Given the description of an element on the screen output the (x, y) to click on. 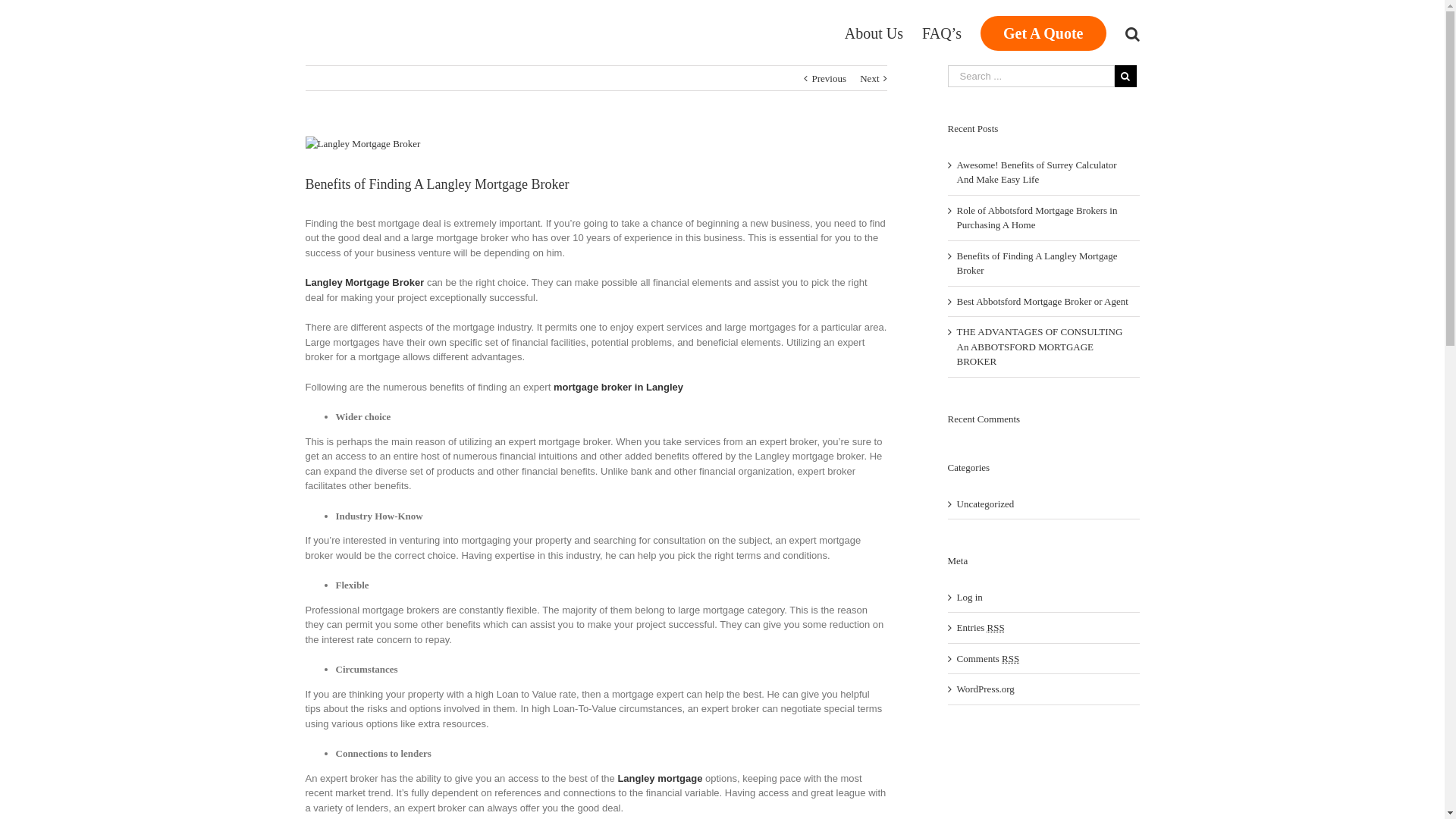
Comments RSS Element type: text (988, 657)
THE ADVANTAGES OF CONSULTING An ABBOTSFORD MORTGAGE BROKER Element type: text (1040, 346)
Best Abbotsford Mortgage Broker or Agent Element type: text (1042, 301)
Role of Abbotsford Mortgage Brokers in Purchasing A Home Element type: text (1037, 217)
Get A Quote Element type: text (1043, 32)
Langley mortgage Element type: text (659, 777)
Langley Mortgage Broker Element type: text (363, 282)
Entries RSS Element type: text (980, 627)
Previous Element type: text (828, 78)
Awesome! Benefits of Surrey Calculator And Make Easy Life Element type: text (1037, 172)
Uncategorized Element type: text (1044, 503)
About Us Element type: text (873, 32)
mortgage broker in Langley Element type: text (618, 386)
WordPress.org Element type: text (985, 688)
Next Element type: text (868, 78)
Log in Element type: text (969, 596)
Benefits of Finding A Langley Mortgage Broker Element type: text (1037, 263)
View Larger Image Element type: text (595, 143)
